Given the description of an element on the screen output the (x, y) to click on. 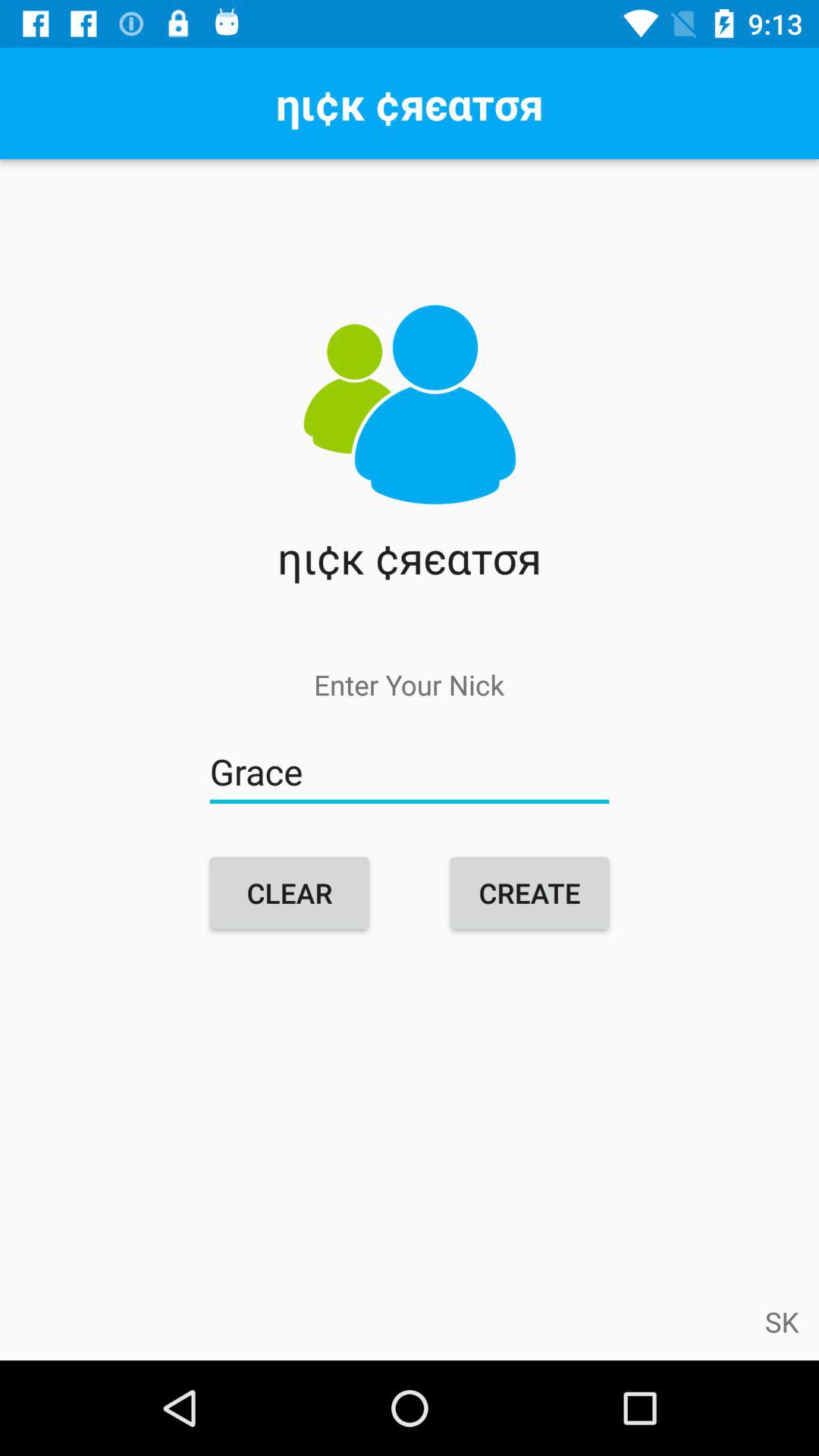
launch item next to the create icon (289, 892)
